Given the description of an element on the screen output the (x, y) to click on. 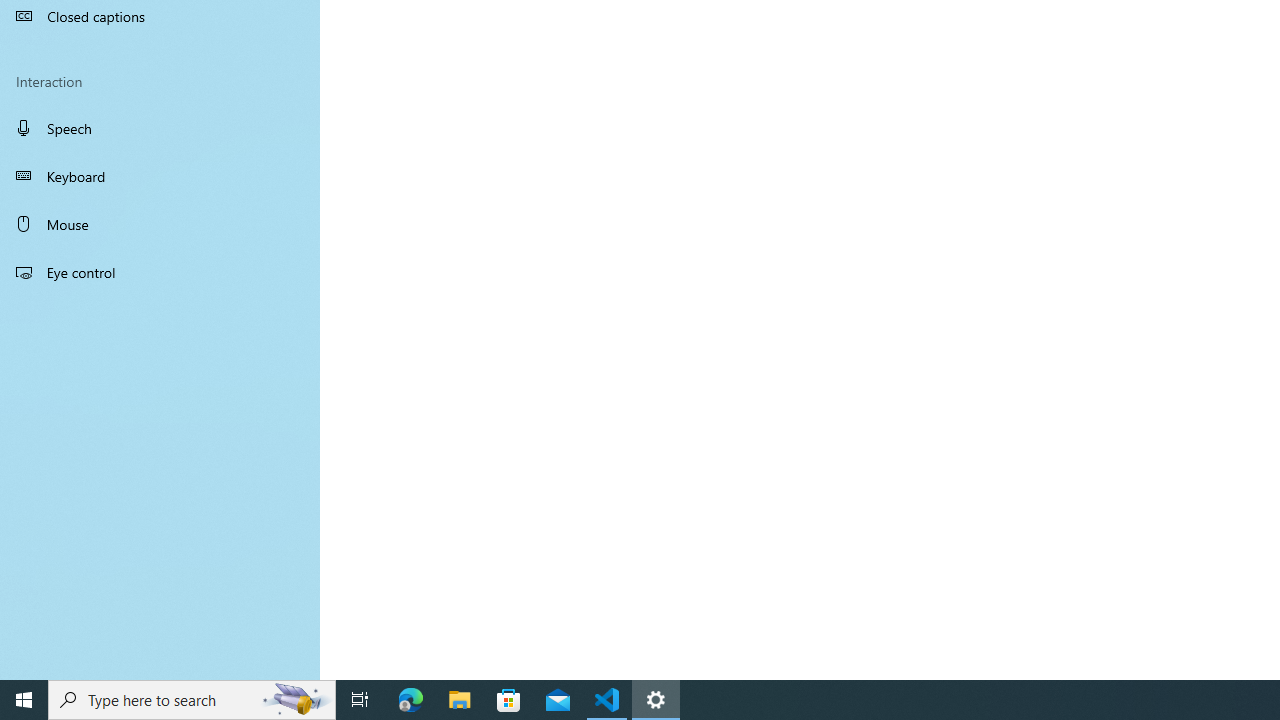
Mouse (160, 223)
Eye control (160, 271)
Settings - 1 running window (656, 699)
Keyboard (160, 175)
Speech (160, 127)
